Given the description of an element on the screen output the (x, y) to click on. 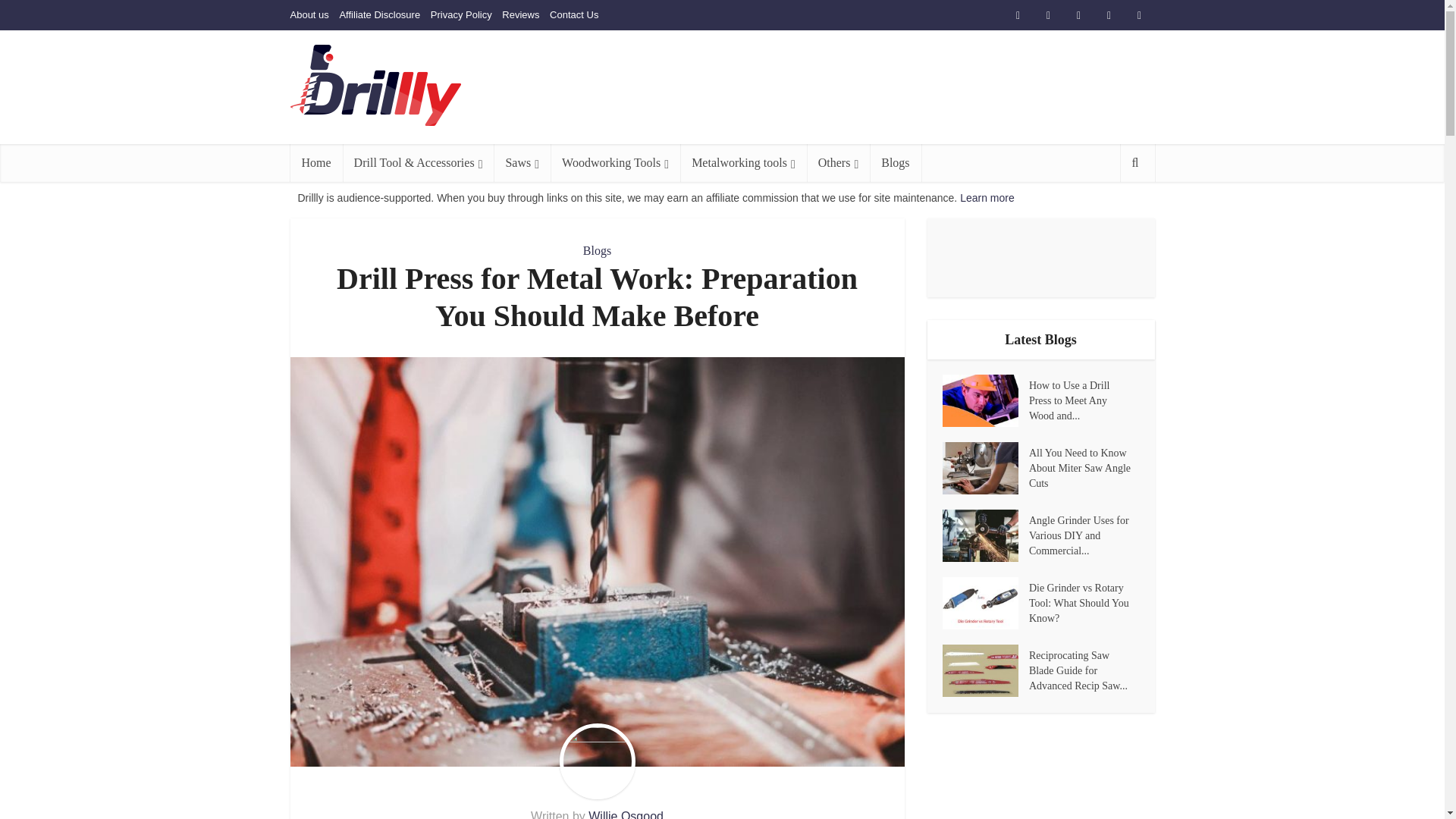
Die Grinder vs Rotary Tool: What Should You Know? (1084, 601)
Affiliate Disclosure (379, 14)
All You Need to Know About Miter Saw Angle Cuts (984, 468)
Saws (521, 162)
Angle Grinder Uses for Various DIY and Commercial Projects (1084, 533)
Home (315, 162)
Woodworking Tools (614, 162)
About us (309, 14)
All You Need to Know About Miter Saw Angle Cuts (1084, 466)
Die Grinder vs Rotary Tool: What Should You Know? (984, 603)
Angle Grinder Uses for Various DIY and Commercial Projects (984, 535)
Contact Us (574, 14)
Reviews (520, 14)
